Given the description of an element on the screen output the (x, y) to click on. 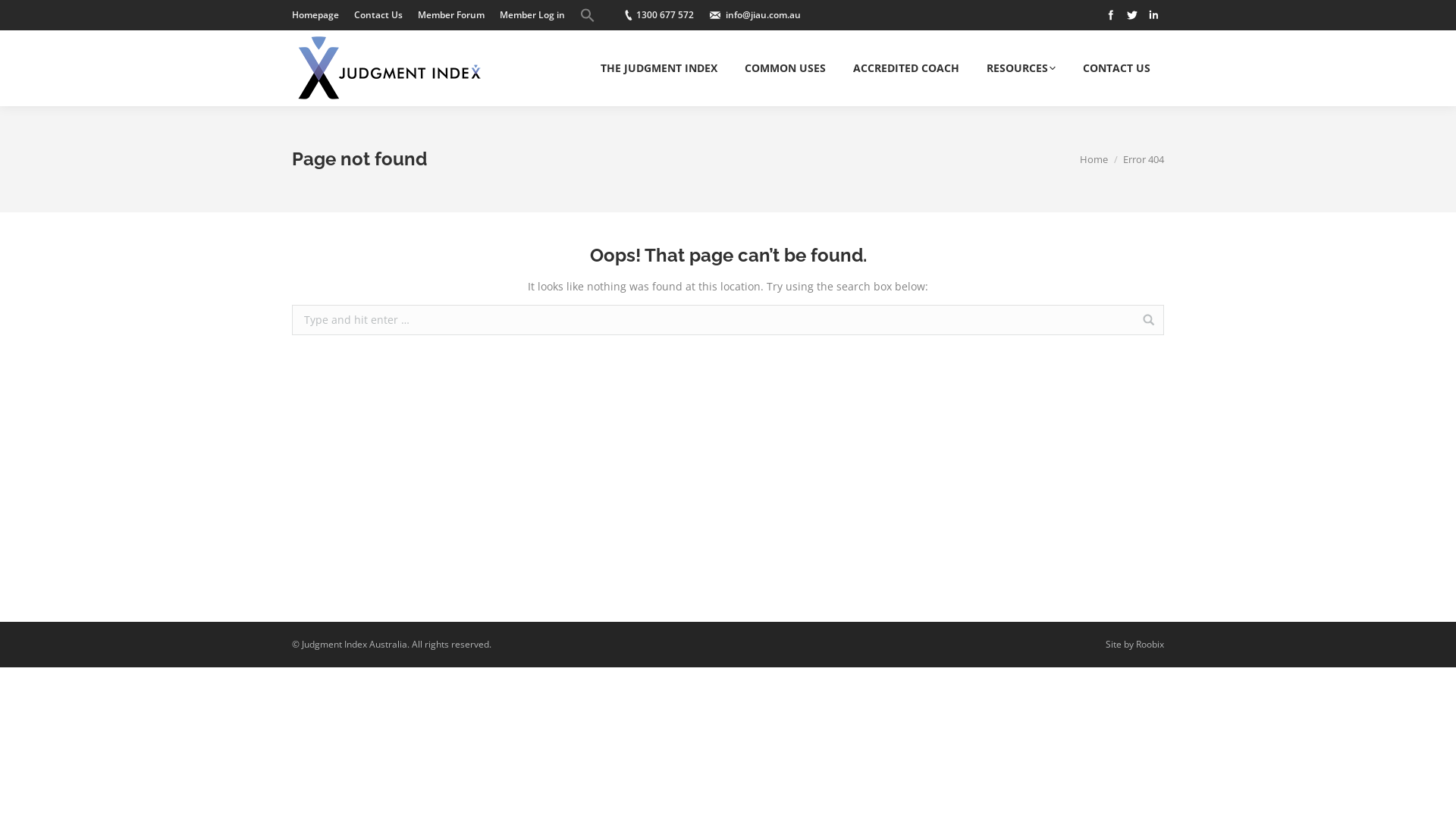
Member Forum Element type: text (450, 14)
Facebook Element type: hover (1110, 15)
Homepage Element type: text (314, 14)
Member Log in Element type: text (531, 14)
Twitter Element type: hover (1132, 15)
RESOURCES Element type: text (1020, 67)
Linkedin Element type: hover (1153, 15)
1300 677 572 Element type: text (664, 14)
Roobix Element type: text (1149, 643)
THE JUDGMENT INDEX Element type: text (658, 67)
info@jiau.com.au Element type: text (762, 14)
ACCREDITED COACH Element type: text (905, 67)
Home Element type: text (1093, 158)
Contact Us Element type: text (378, 14)
CONTACT US Element type: text (1116, 67)
COMMON USES Element type: text (785, 67)
